Given the description of an element on the screen output the (x, y) to click on. 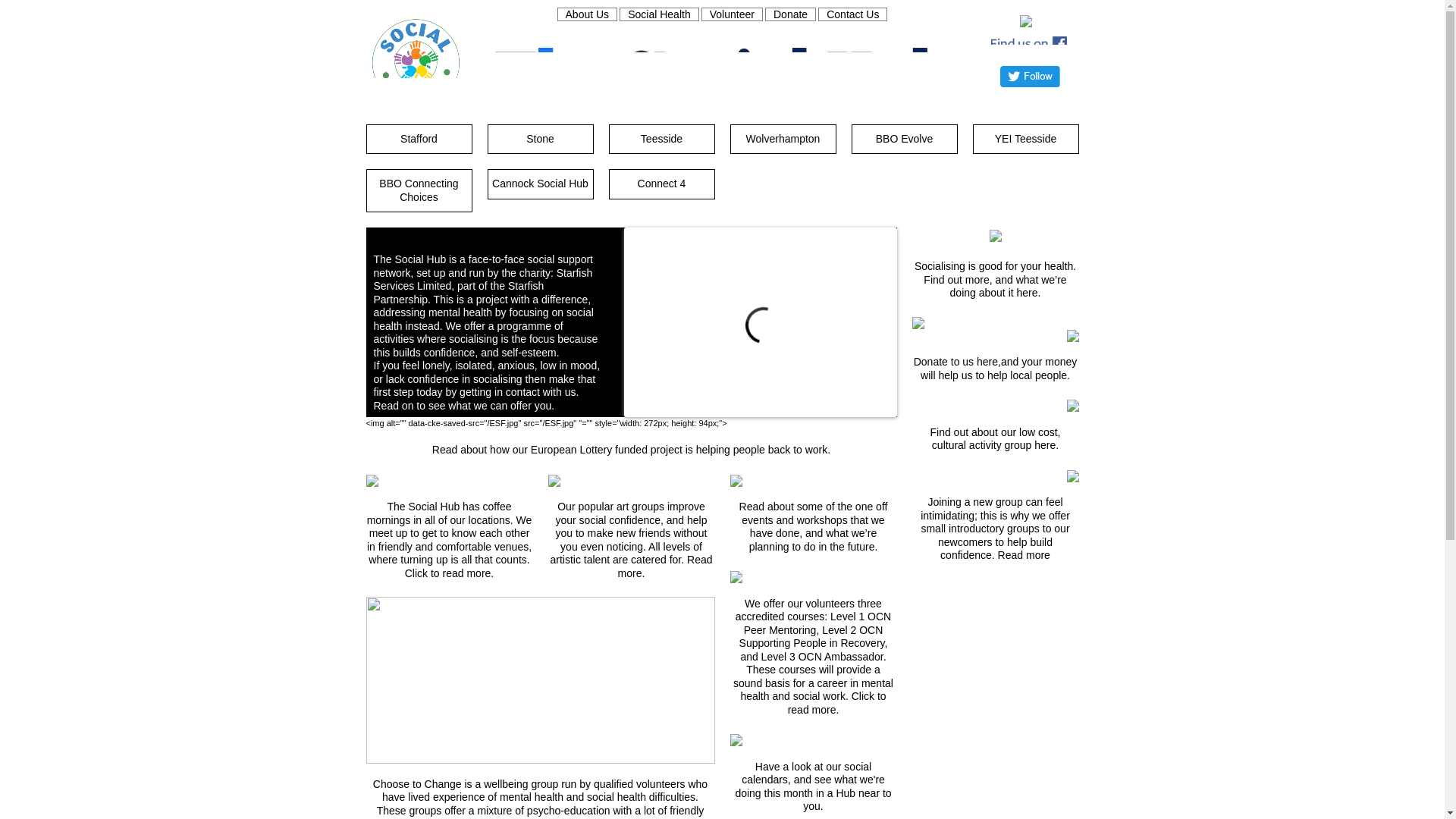
Donate (790, 14)
Donate (790, 14)
Social Health (659, 14)
Wolverhampton (783, 139)
Stone (539, 139)
Cannock Social Hub (540, 184)
About Us (587, 14)
Contact Us (852, 14)
